Given the description of an element on the screen output the (x, y) to click on. 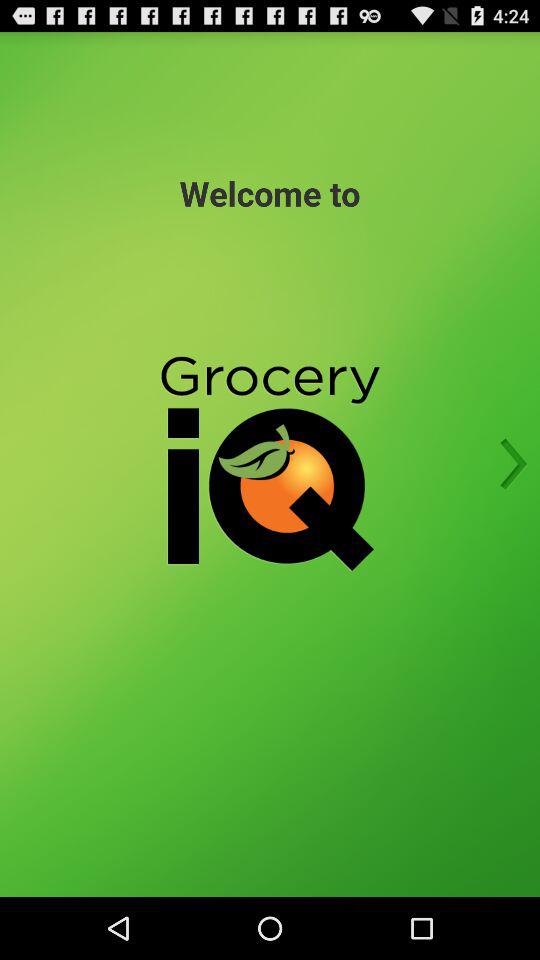
go to next page (507, 464)
